Given the description of an element on the screen output the (x, y) to click on. 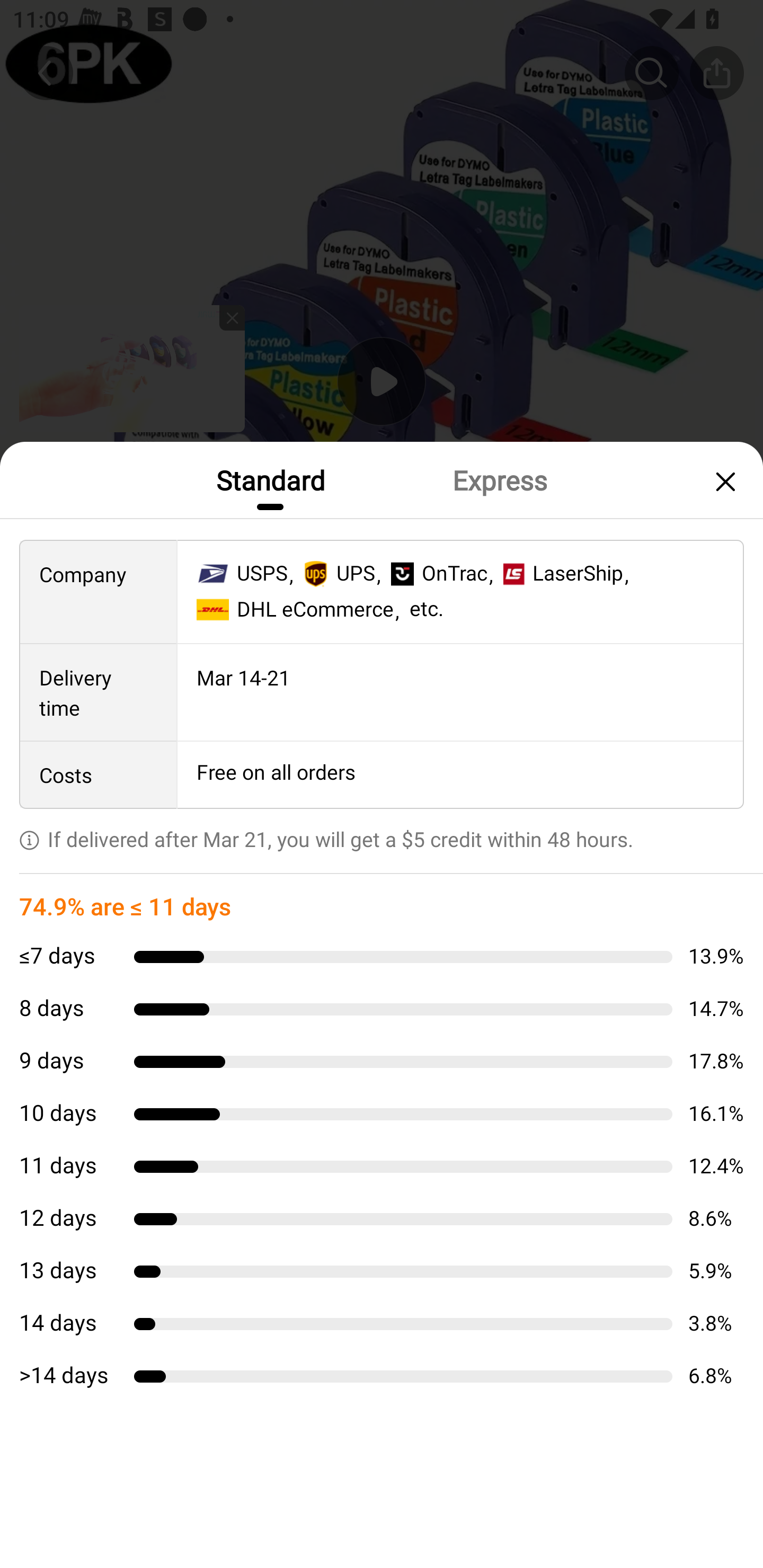
Standard (269, 479)
Express (499, 479)
close (723, 481)
Free shipping on all orders Exclusive offer (381, 836)
￼ ￼ ￼ 4 interest-free biweekly installments ￼ (381, 902)
